Given the description of an element on the screen output the (x, y) to click on. 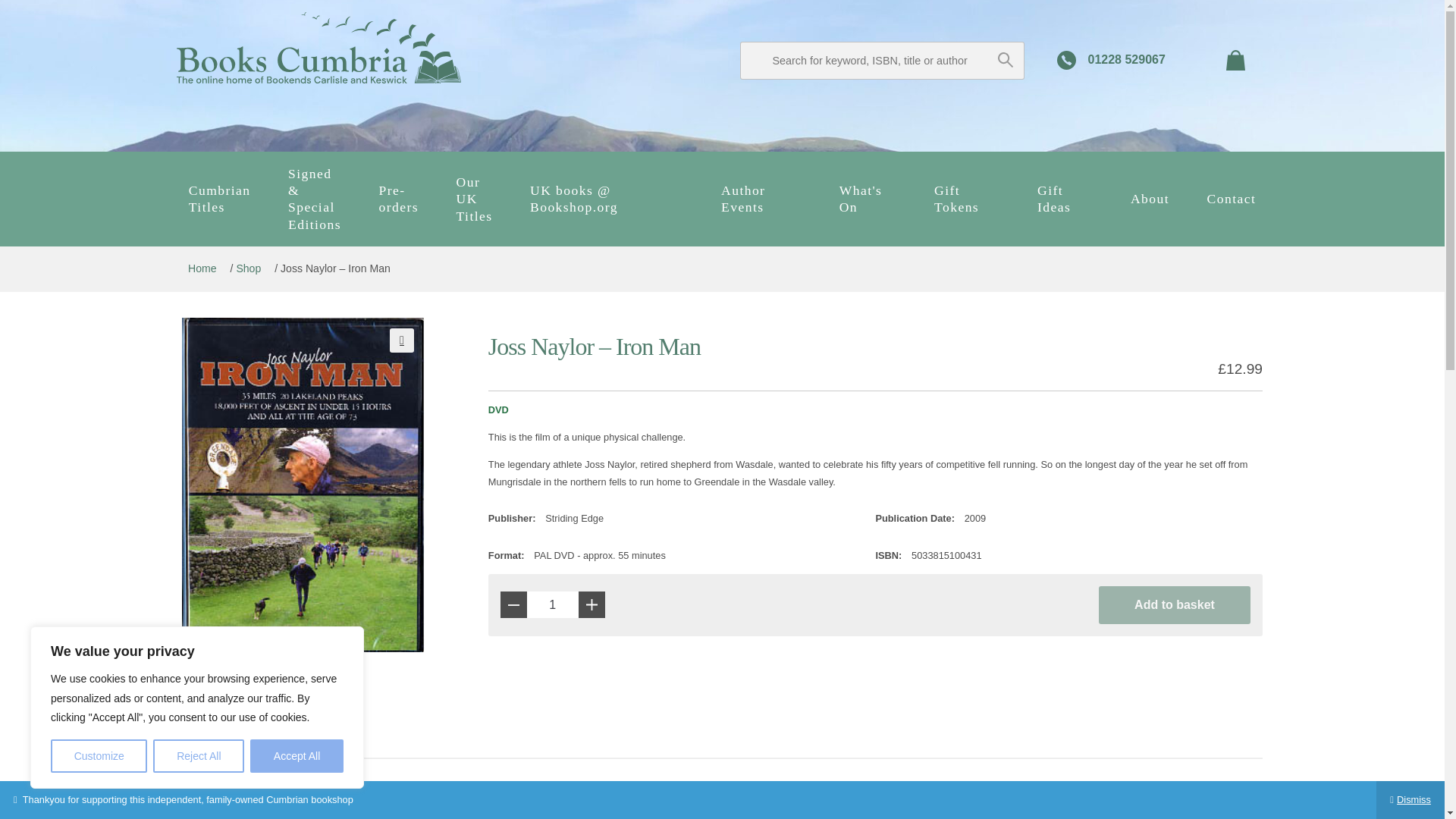
Customize (98, 756)
Search (1004, 59)
Reject All (198, 756)
01228 529067 (1113, 59)
Qty (552, 604)
Accept All (296, 756)
View your shopping basket (1235, 60)
1 (552, 604)
